Given the description of an element on the screen output the (x, y) to click on. 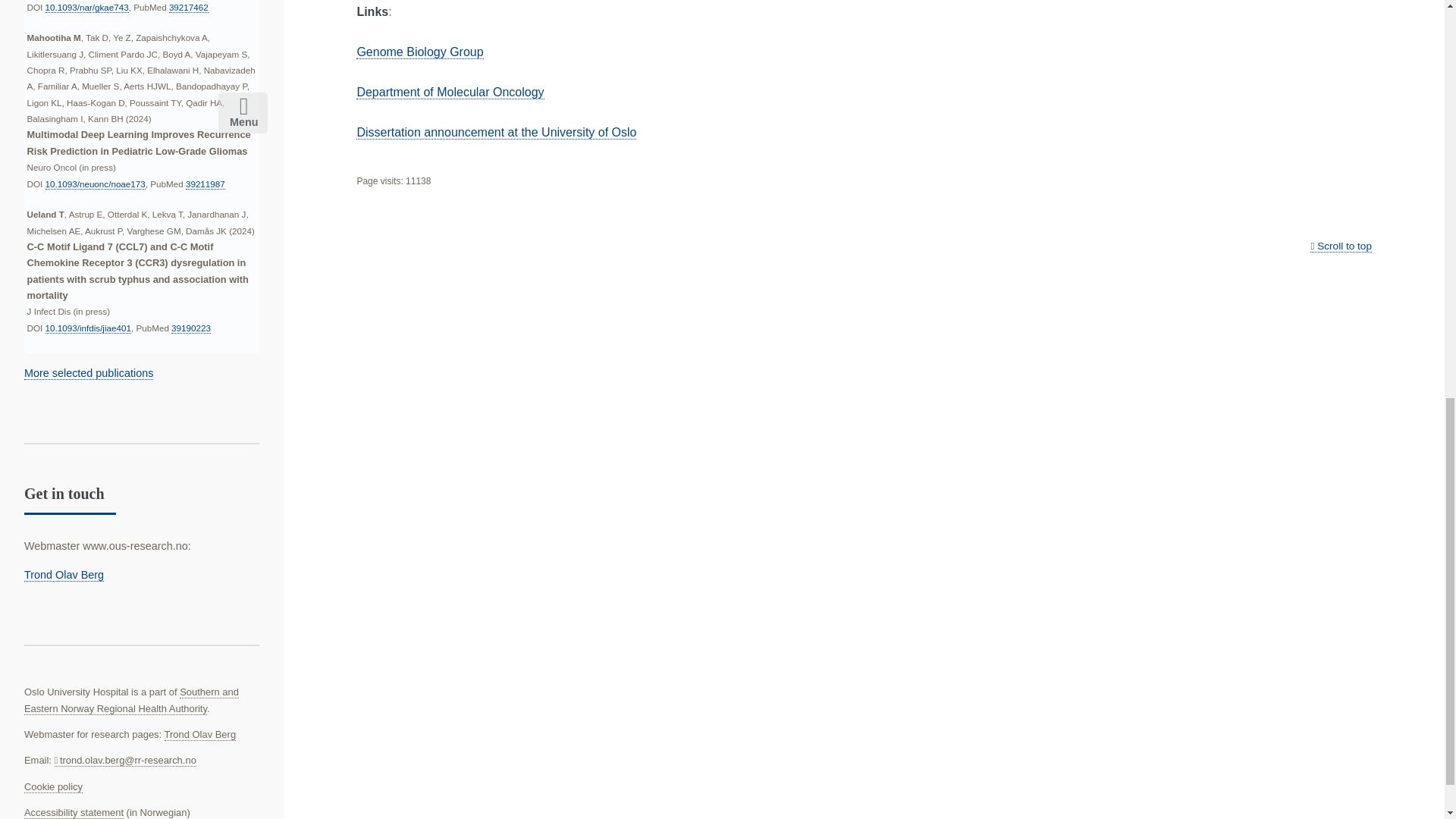
Dissertation announcement at the University of Oslo (496, 132)
Scroll to top (1340, 246)
Department of Molecular Oncology (449, 92)
Genome Biology Group (419, 51)
